Given the description of an element on the screen output the (x, y) to click on. 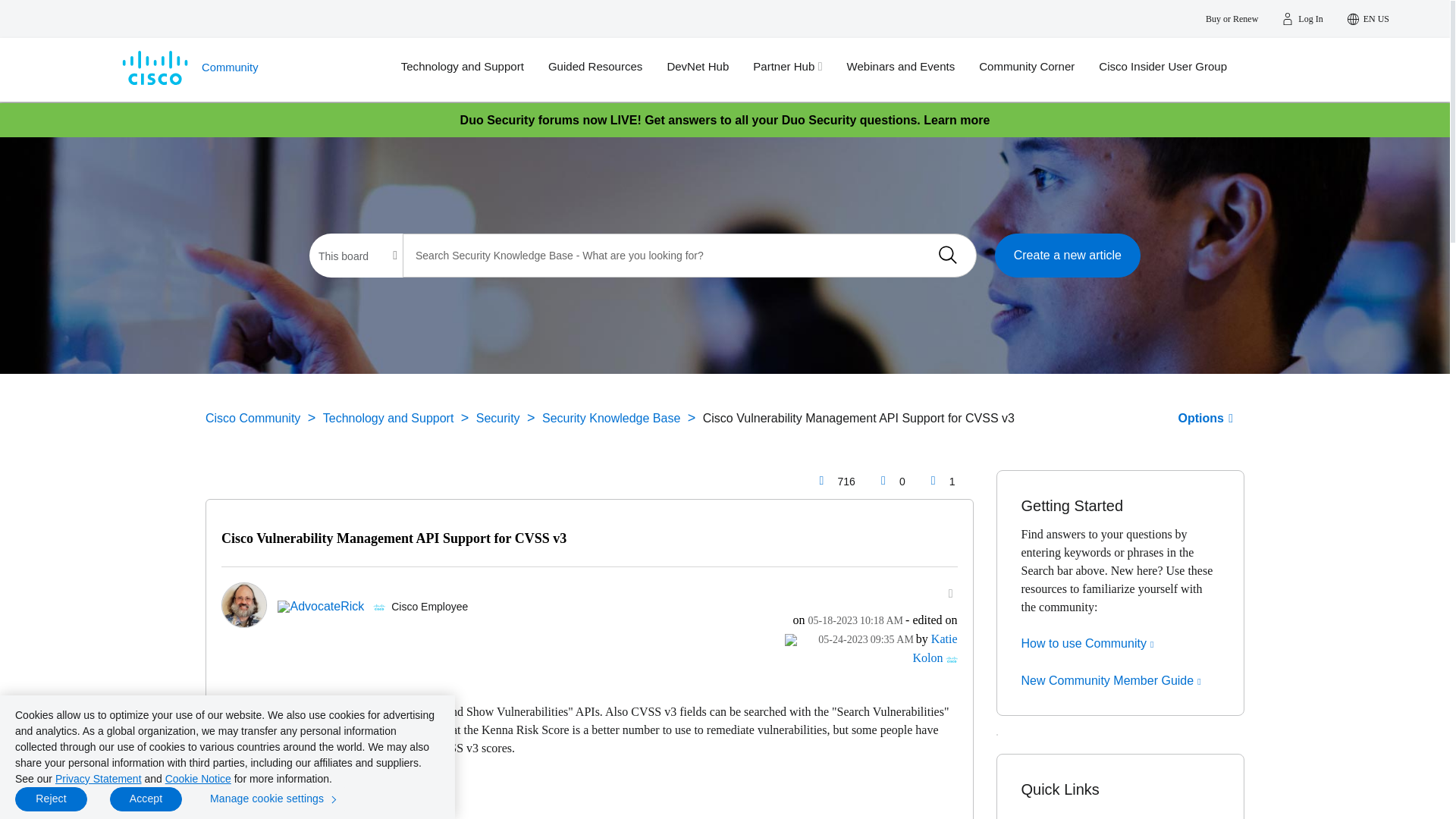
Search Granularity (357, 256)
Show option menu (1205, 418)
Search (947, 254)
Show option menu (942, 593)
AdvocateRick (243, 605)
Cisco Community (246, 69)
Technology and Support (474, 66)
Community (246, 69)
Tip: Phrases may provide better results (689, 255)
DevNet Hub (709, 66)
Search (947, 254)
Cisco Employee (378, 607)
Guided Resources (607, 66)
